Given the description of an element on the screen output the (x, y) to click on. 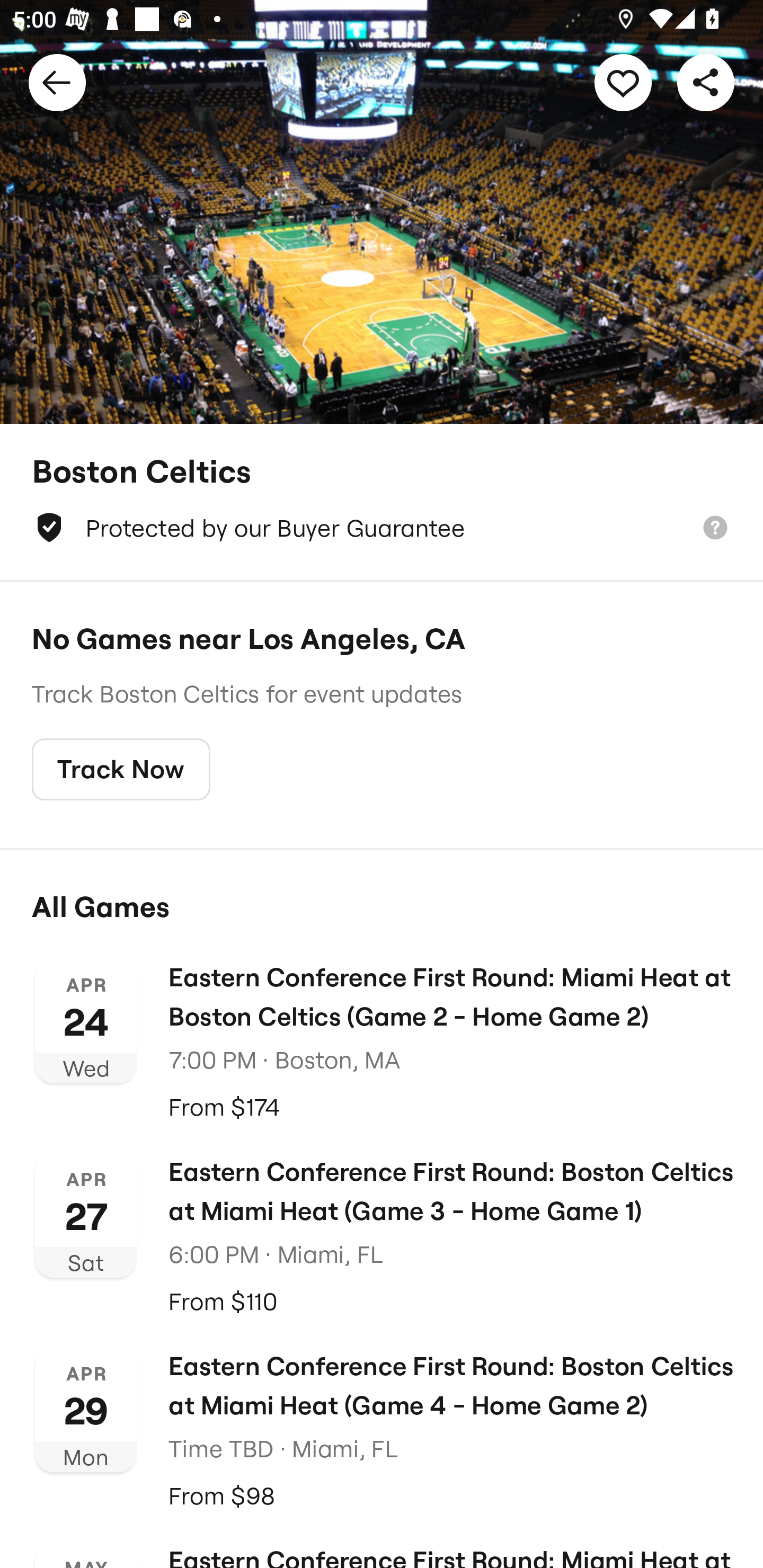
Back (57, 81)
Track this performer (623, 81)
Share this performer (705, 81)
Protected by our Buyer Guarantee Learn more (381, 527)
Track Now (121, 769)
